Given the description of an element on the screen output the (x, y) to click on. 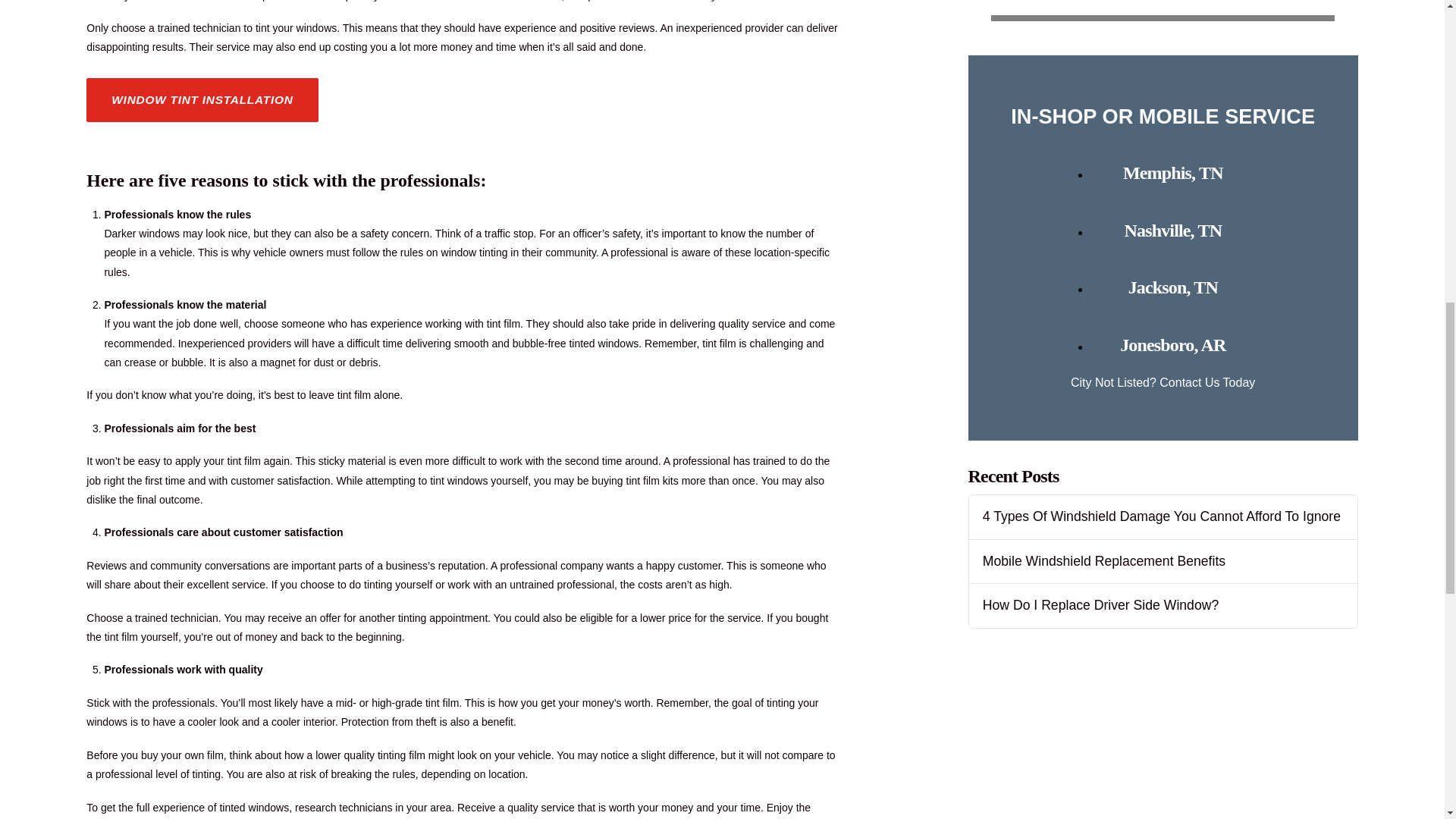
Eden Auto Glass Memphis TN (1172, 172)
Eden Auto Glass Jackson TN (1172, 287)
WINDOW TINT INSTALLATION (201, 99)
Eden Auto Glass NashvilleTN (1172, 230)
Eden Auto Glass Jonesboro AR (1172, 344)
